Given the description of an element on the screen output the (x, y) to click on. 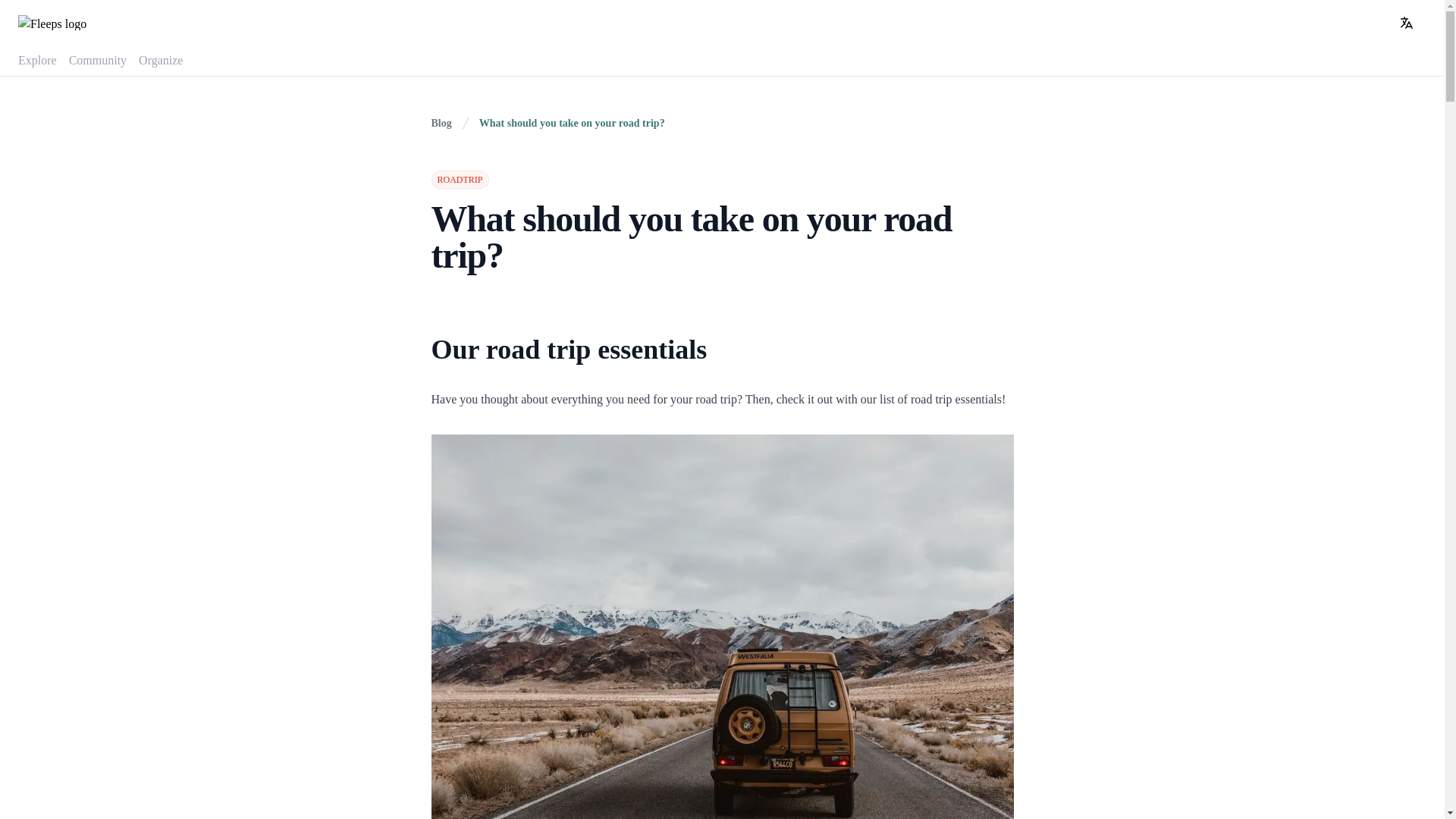
Blog (440, 123)
Organize (160, 60)
Explore (36, 60)
Community (97, 60)
